Given the description of an element on the screen output the (x, y) to click on. 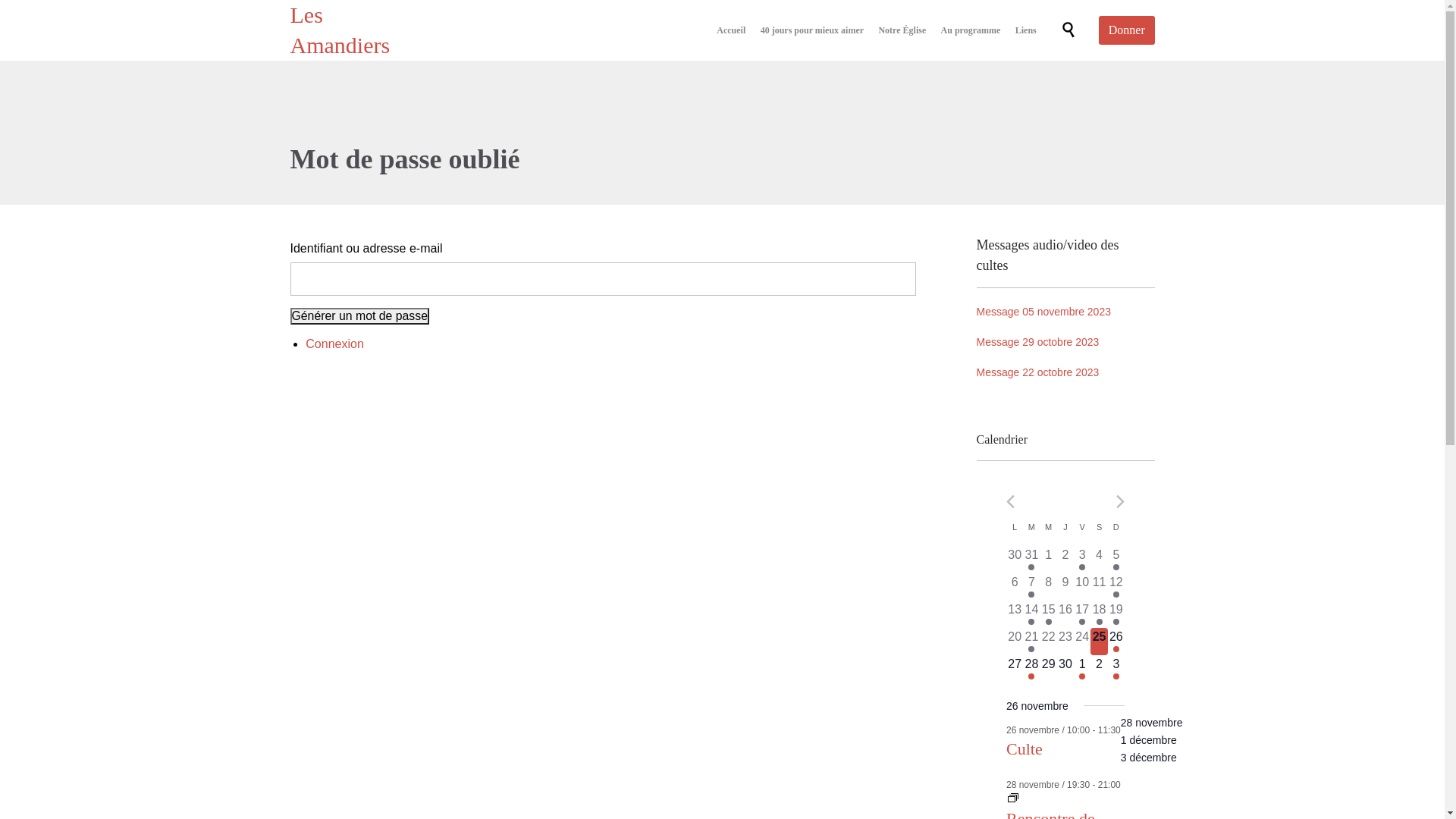
Les Amandiers Element type: text (339, 30)
Message 22 octobre 2023 Element type: text (1065, 371)
40 jours pour mieux aimer Element type: text (811, 30)
Message 05 novembre 2023 Element type: text (1065, 311)
Accueil Element type: text (730, 30)
Au programme Element type: text (970, 30)
Liens Element type: text (1025, 30)
Culte Element type: text (1024, 749)
Connexion Element type: text (334, 343)
Skip to content Element type: text (1044, 13)
Donner Element type: text (1126, 29)
Message 29 octobre 2023 Element type: text (1065, 341)
